Given the description of an element on the screen output the (x, y) to click on. 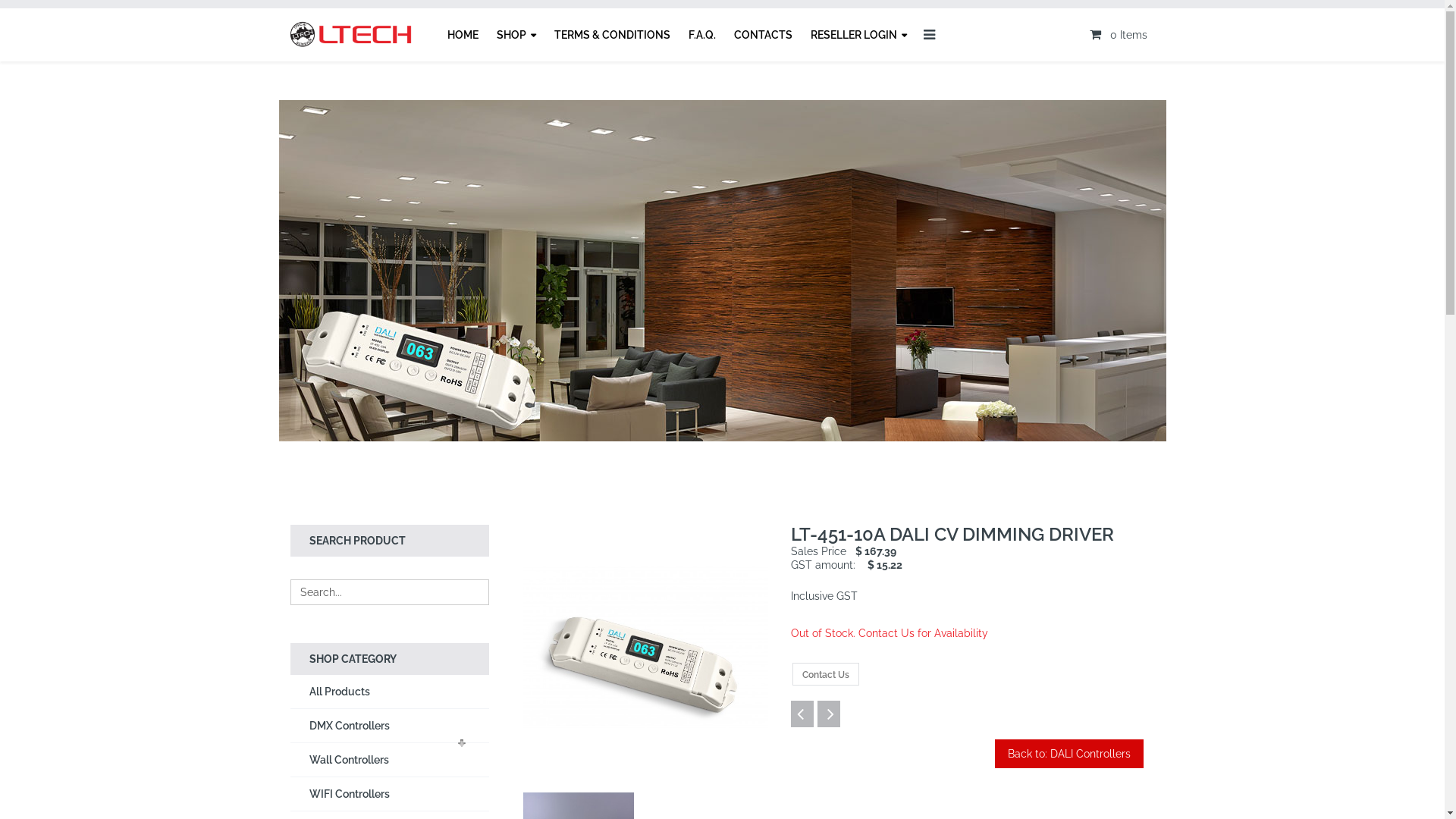
DMX Controllers Element type: text (389, 725)
Back to: DALI Controllers Element type: text (1068, 753)
SHOP Element type: text (515, 35)
LT-401-12A DALI CV DIMMING DRIVER Element type: text (828, 713)
F.A.Q. Element type: text (701, 34)
Out of Stock. Contact Us for Availability Element type: text (889, 633)
WIFI Controllers Element type: text (389, 793)
LT-403-6A DALI CV DIMMING DRIVER Element type: text (801, 713)
Contact Us Element type: text (825, 673)
All Products Element type: text (389, 691)
CONTACTS Element type: text (762, 34)
led-controller-dali-1x10a-0-10v.jpg Element type: hover (645, 646)
TERMS & CONDITIONS Element type: text (611, 34)
HOME Element type: text (462, 34)
RESELLER LOGIN Element type: text (857, 35)
Wall Controllers Element type: text (389, 759)
